Given the description of an element on the screen output the (x, y) to click on. 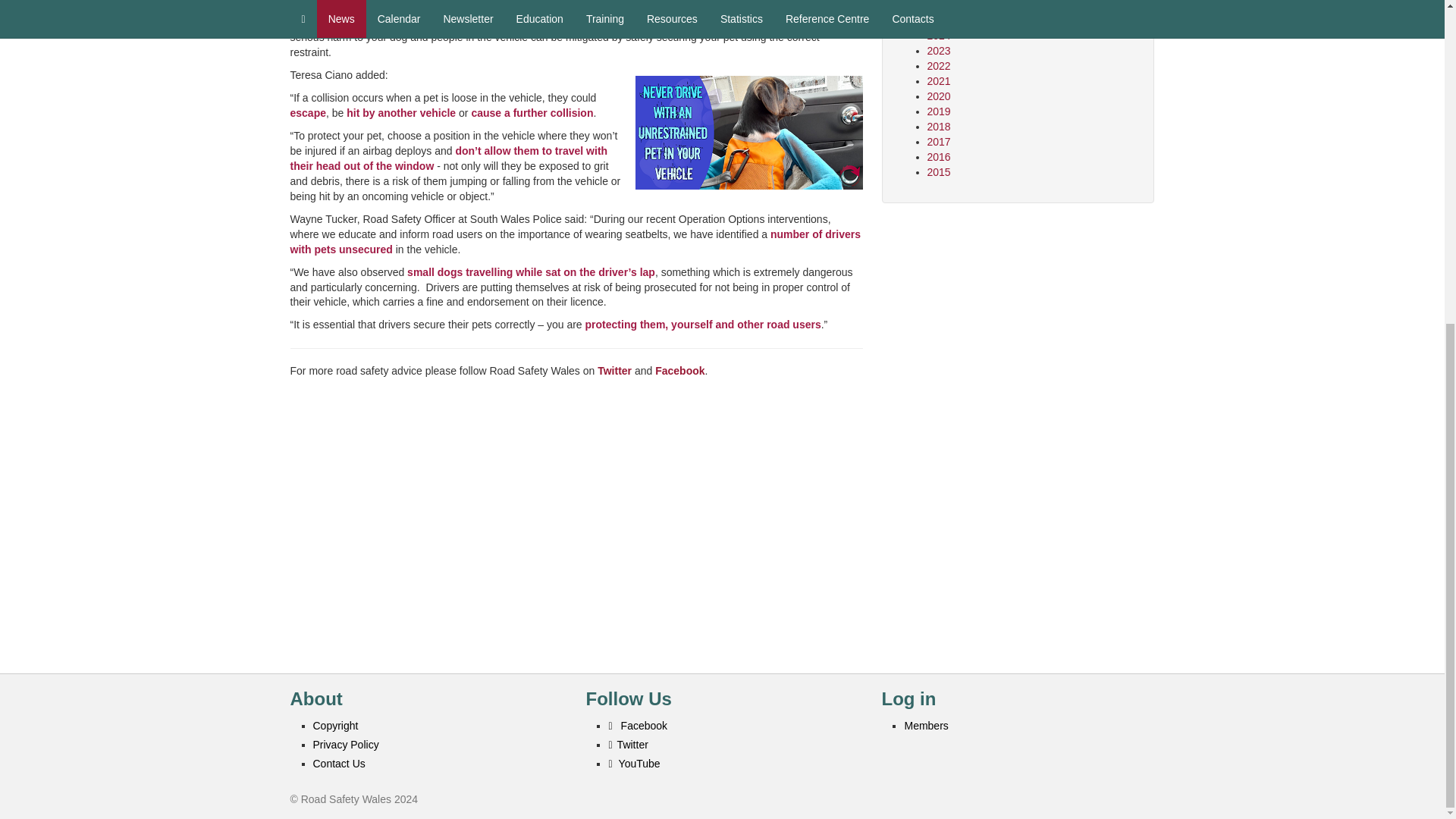
2023 (938, 50)
Twitter (613, 370)
Facebook (679, 370)
2024 (938, 35)
Posts in 2024 (938, 35)
Posts in 2023 (938, 50)
